Given the description of an element on the screen output the (x, y) to click on. 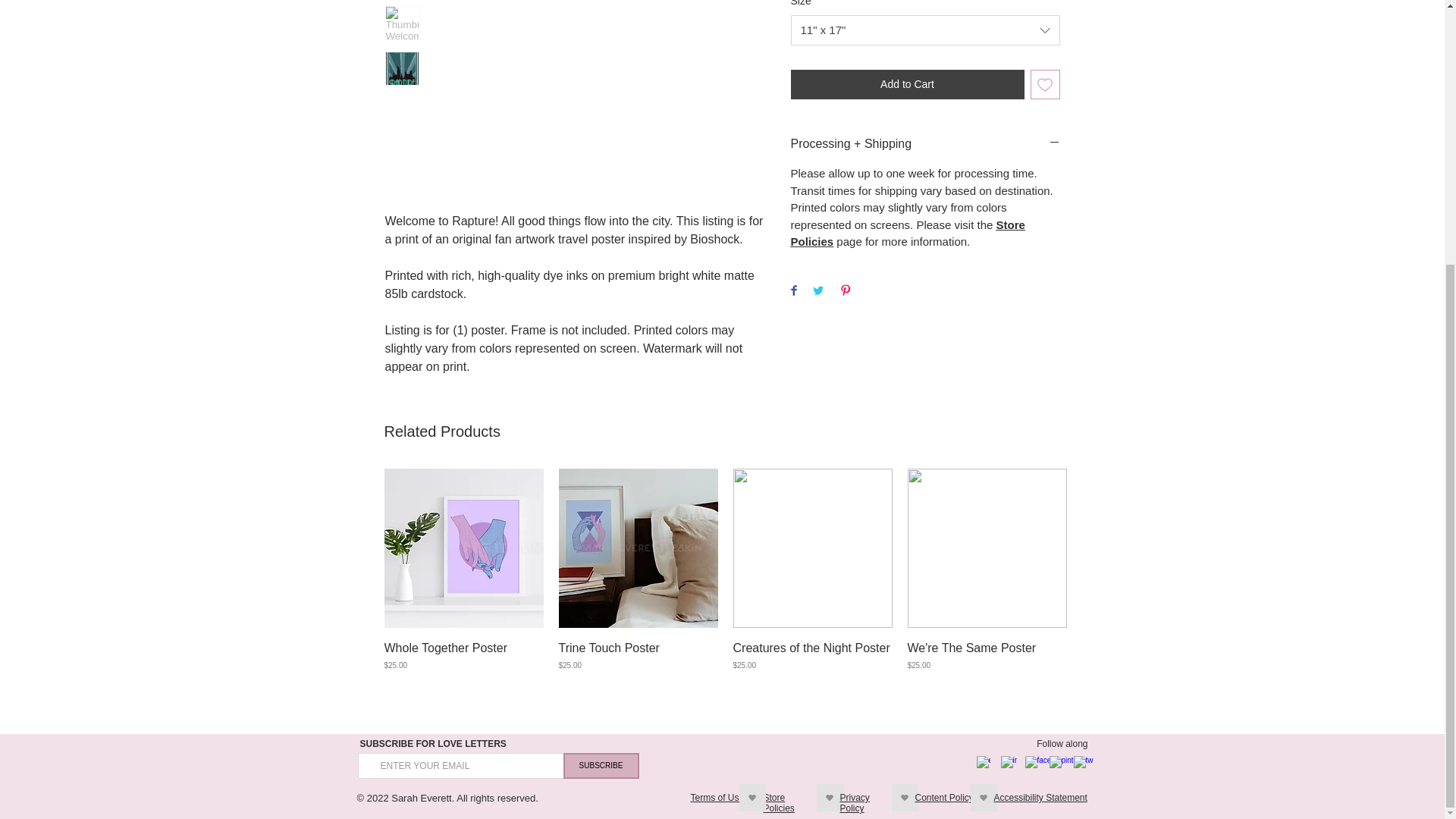
Store Policies (907, 233)
11" x 17" (924, 30)
Add to Cart (906, 84)
